Given the description of an element on the screen output the (x, y) to click on. 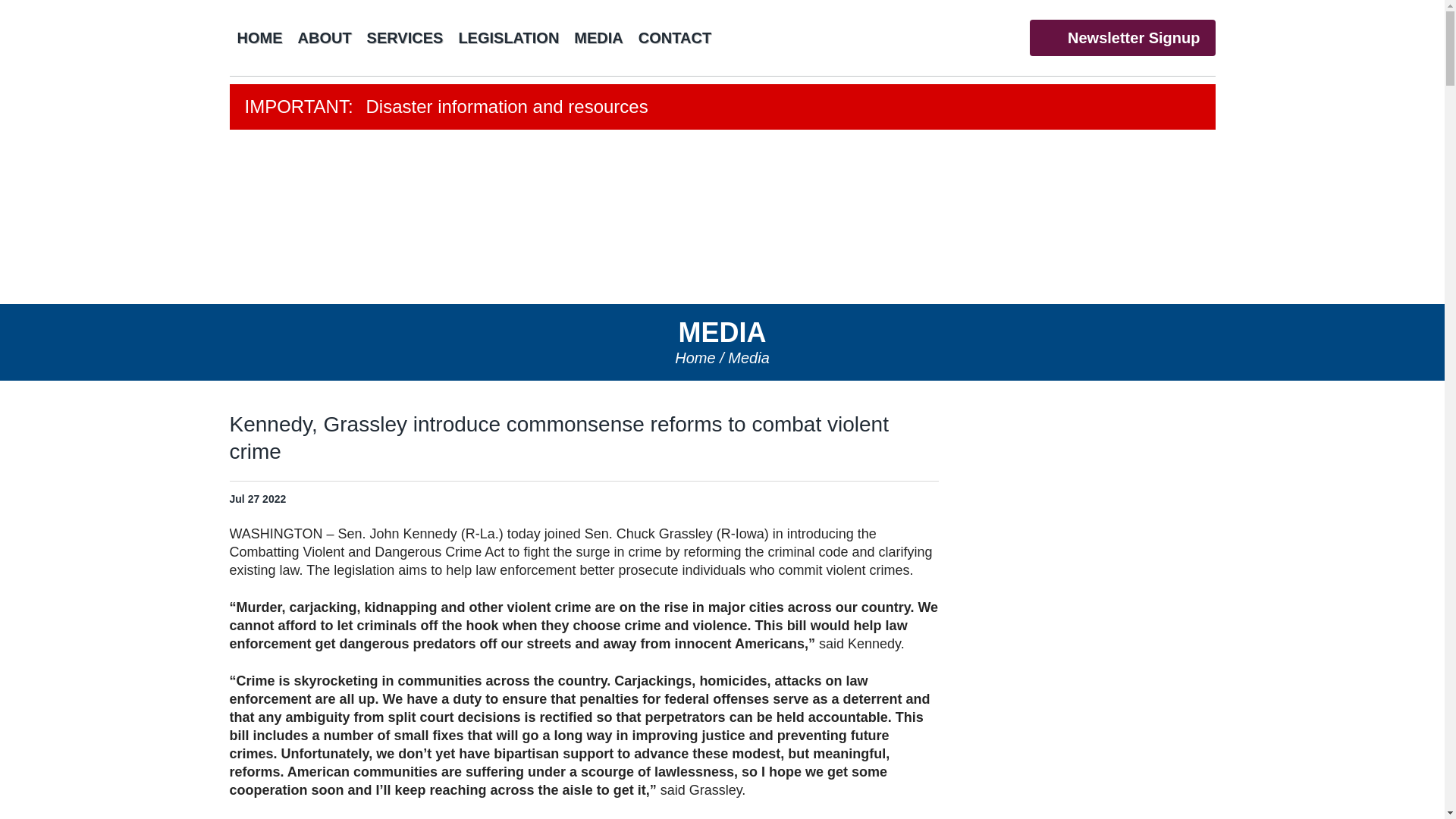
HOME (258, 37)
YouTube (976, 36)
Twitter (944, 36)
ABOUT (323, 37)
Facebook (913, 36)
CONTACT (674, 37)
MEDIA (598, 37)
SERVICES (405, 37)
Instagram (1006, 36)
Newsletter Signup (1121, 37)
LEGISLATION (507, 37)
U.S. Senator John Kennedy Senator for Louisiana (721, 216)
Disaster information and resources (721, 106)
